Given the description of an element on the screen output the (x, y) to click on. 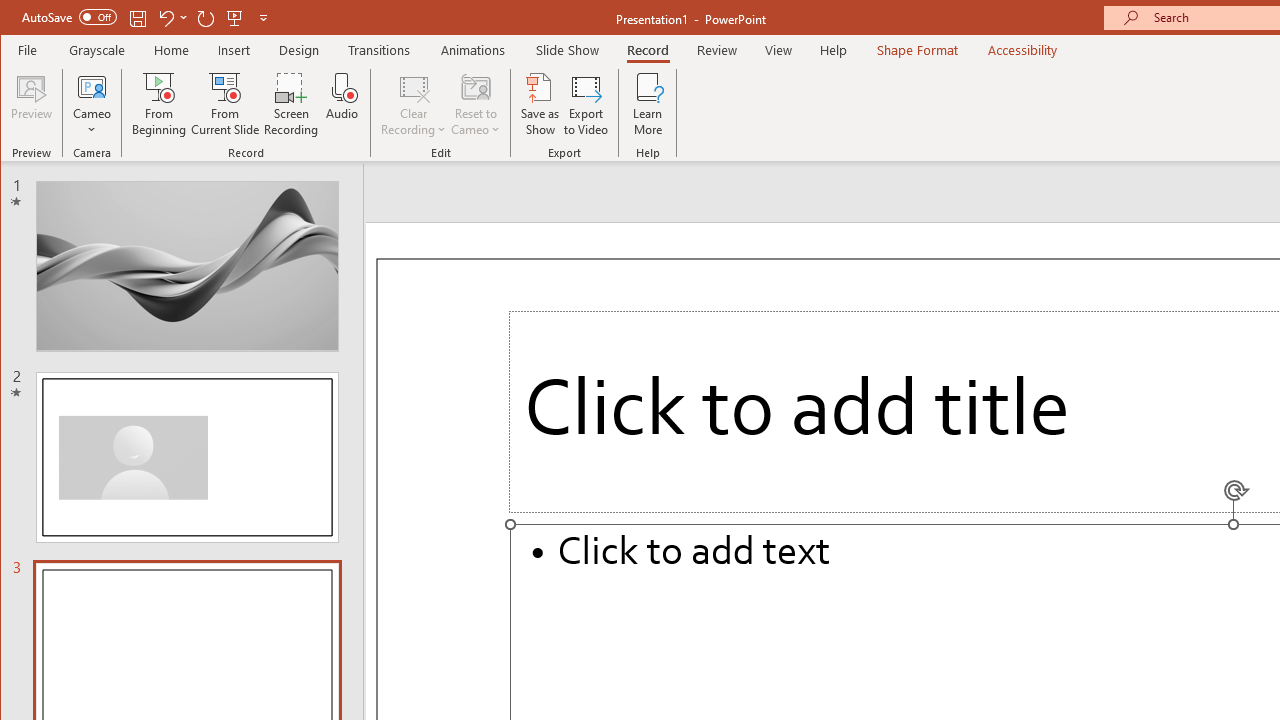
Save (138, 17)
Slide (187, 457)
Redo (206, 17)
Quick Access Toolbar (146, 17)
Cameo (91, 104)
Transitions (379, 50)
Accessibility (1023, 50)
AutoSave (68, 16)
View (779, 50)
Learn More (648, 104)
